Given the description of an element on the screen output the (x, y) to click on. 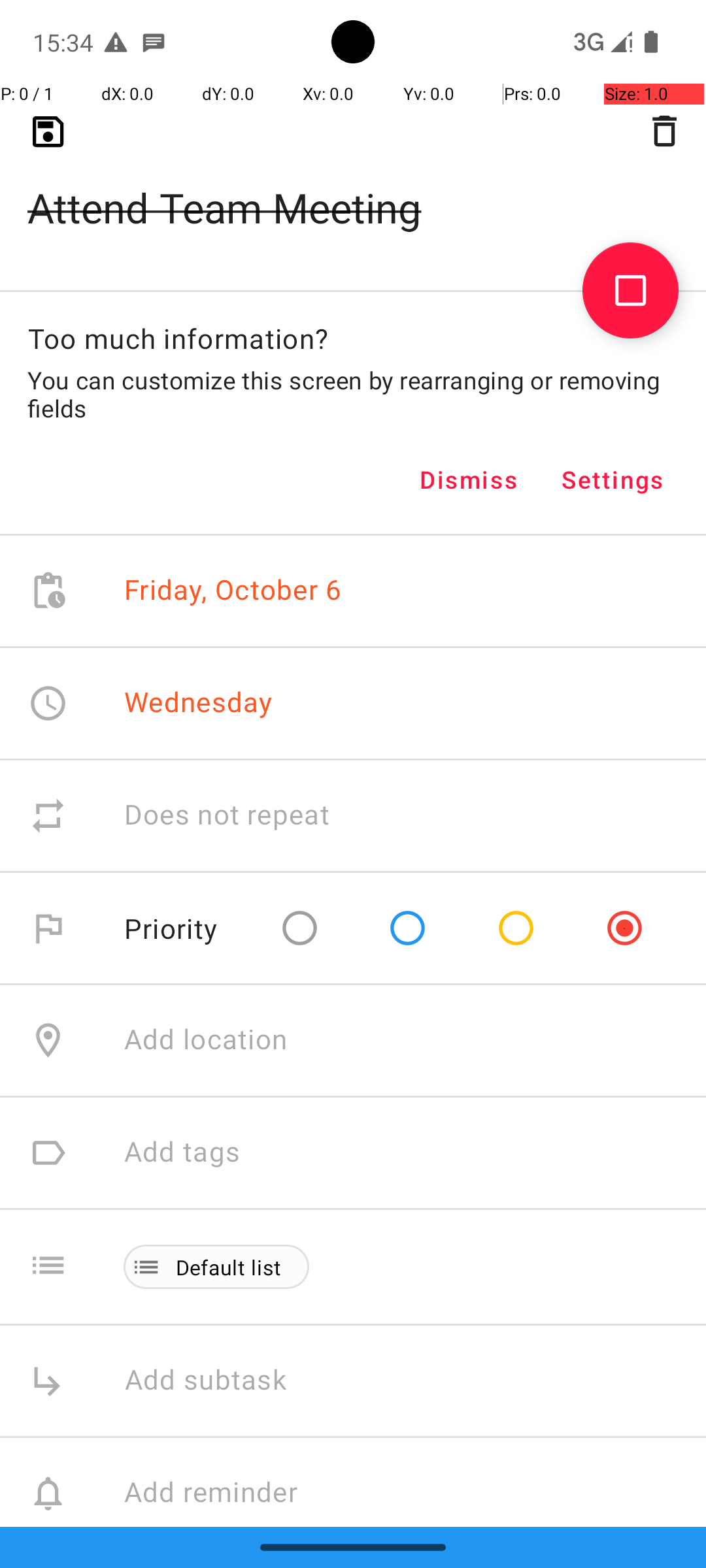
Friday, October 6 Element type: android.widget.TextView (232, 590)
